Given the description of an element on the screen output the (x, y) to click on. 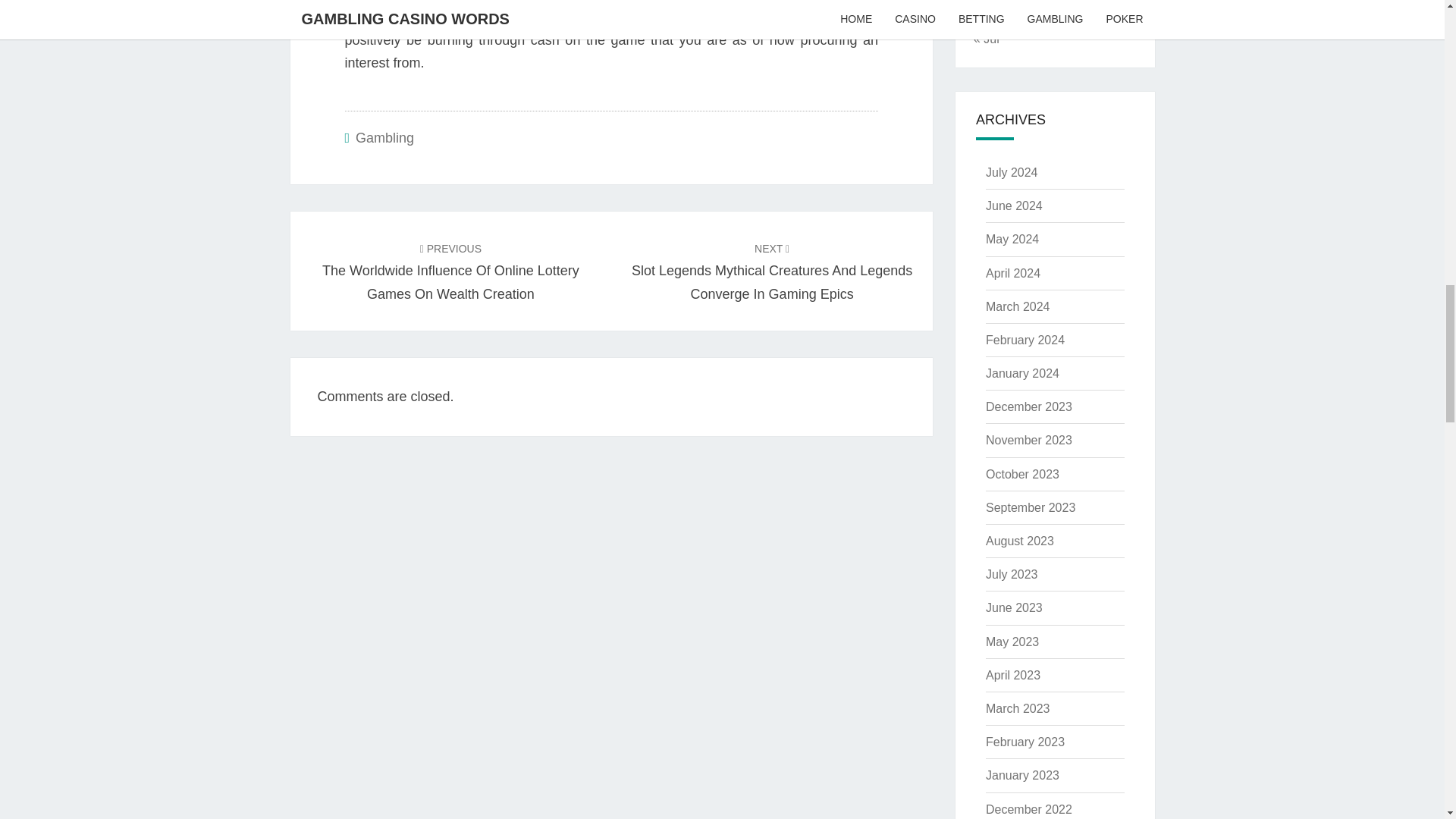
June 2024 (1013, 205)
January 2024 (1022, 373)
June 2023 (1013, 607)
May 2024 (1012, 238)
November 2023 (1028, 440)
September 2023 (1030, 507)
April 2023 (1013, 675)
March 2023 (1017, 707)
Gambling (384, 137)
July 2024 (1011, 172)
March 2024 (1017, 306)
August 2023 (1019, 540)
December 2023 (1028, 406)
May 2023 (1012, 641)
April 2024 (1013, 273)
